Given the description of an element on the screen output the (x, y) to click on. 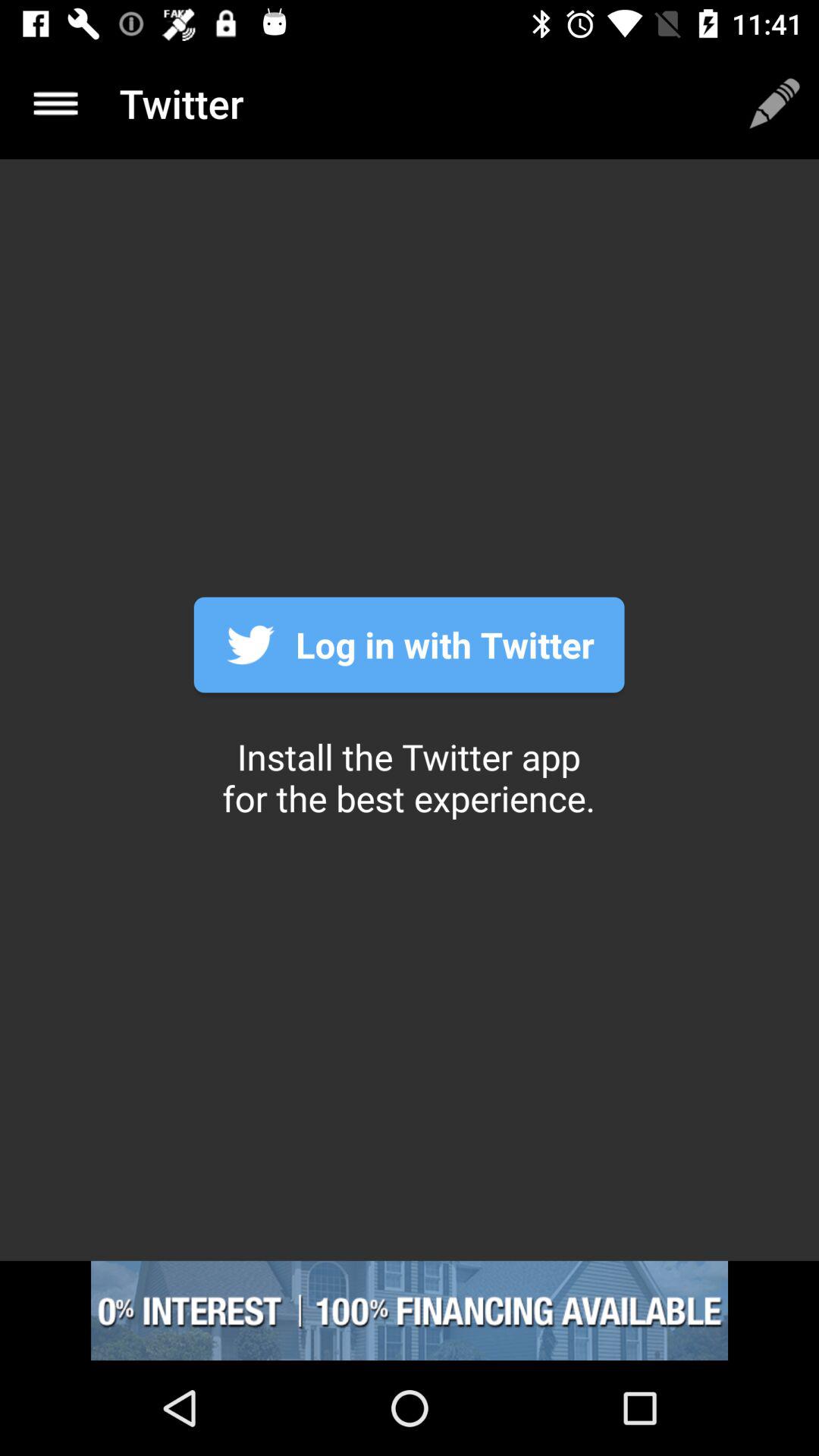
button for finance advertisement (409, 1310)
